Given the description of an element on the screen output the (x, y) to click on. 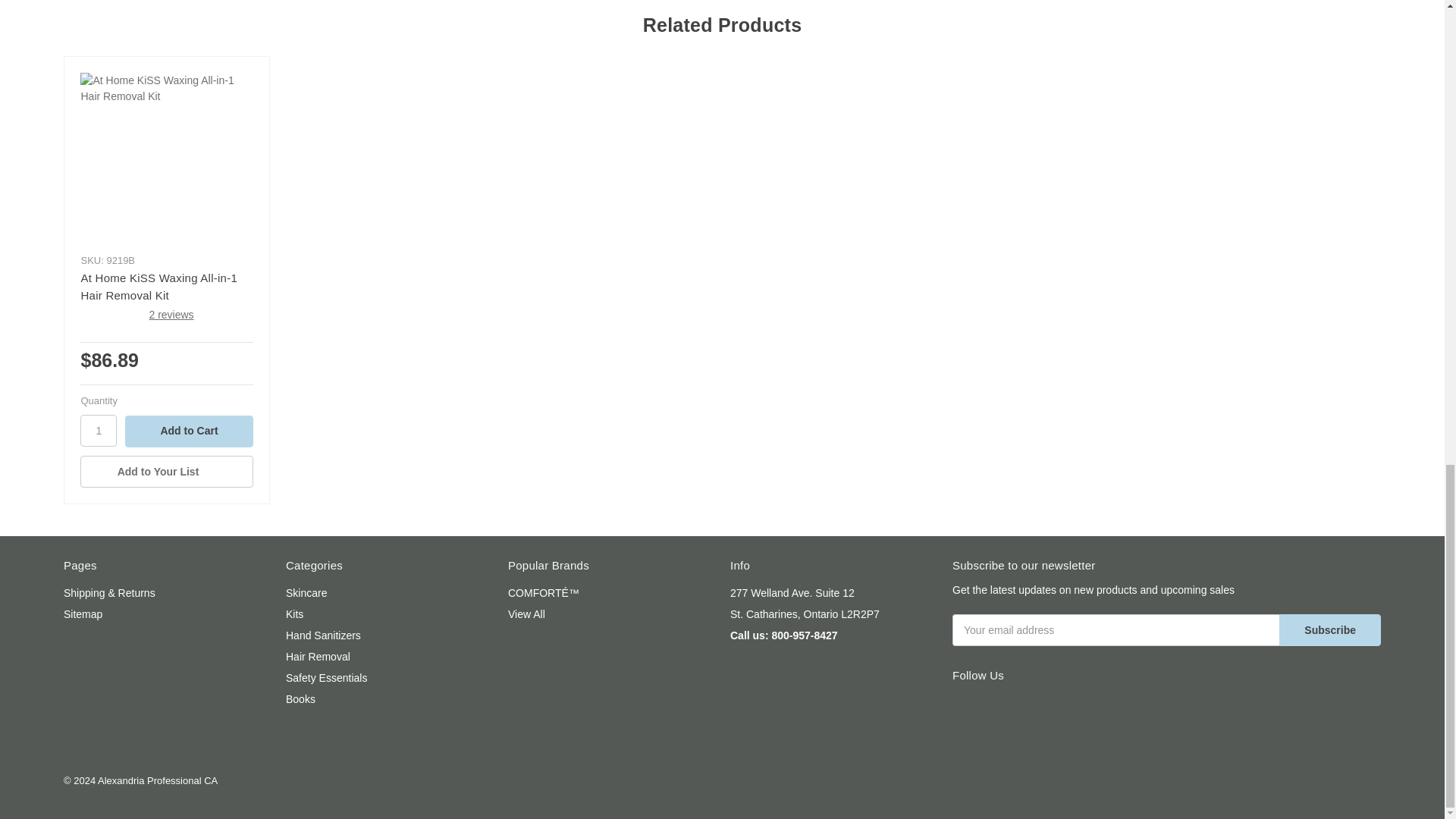
1 (98, 430)
Add to Your List (165, 471)
Add to Cart (188, 431)
Subscribe (1329, 630)
At Home KiSS Waxing All-in-1 Hair Removal Kit (165, 158)
